Given the description of an element on the screen output the (x, y) to click on. 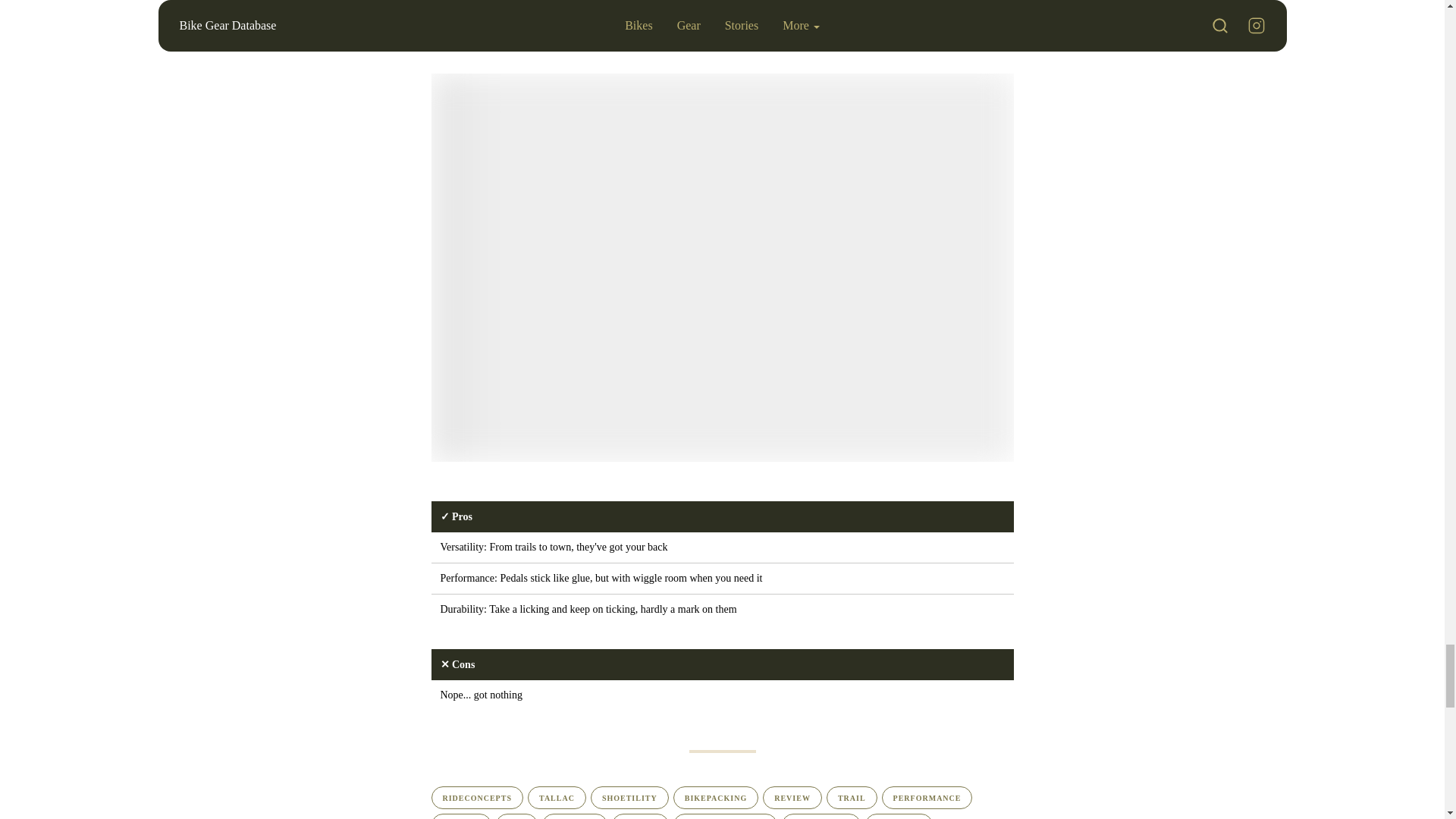
MOUNTAINBIKING (724, 816)
RIDECONCEPTS (476, 797)
BOA (516, 816)
REVIEW (792, 797)
TRAIL (852, 797)
CLIPLESS (574, 816)
DURABILITY (820, 816)
BIKEPACKING (715, 797)
ENDURO (460, 816)
SHOETILITY (629, 797)
